Given the description of an element on the screen output the (x, y) to click on. 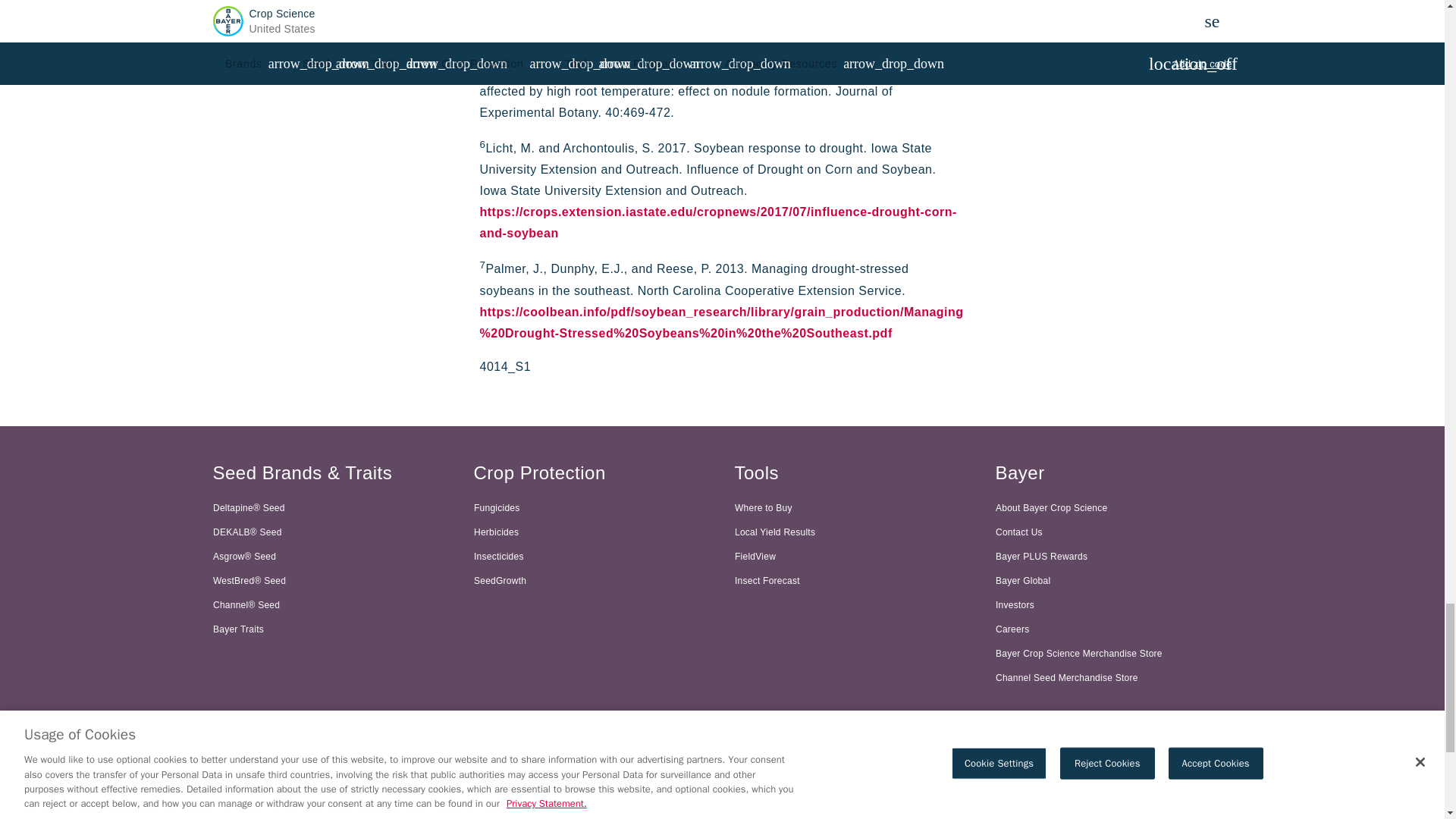
SeedGrowth (591, 580)
About Bayer Crop Science (1112, 508)
Bayer Crop Science Merchandise Store (1112, 653)
Fungicides (591, 508)
Herbicides (591, 532)
Insect Forecast (852, 580)
Local Yield Results (852, 532)
Where to Buy (852, 508)
Bayer Global (1112, 580)
Careers (1112, 629)
